Given the description of an element on the screen output the (x, y) to click on. 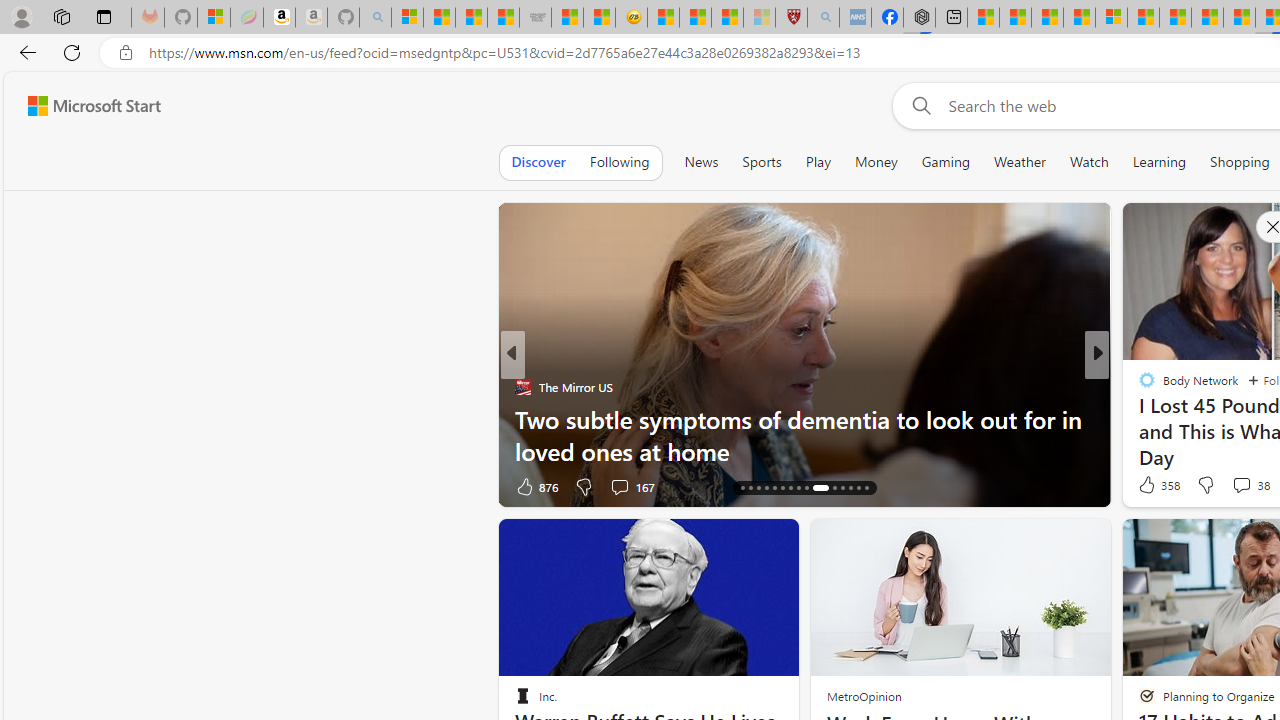
Dislike (1204, 484)
415 Like (1151, 486)
AutomationID: tab-21 (782, 487)
NCL Adult Asthma Inhaler Choice Guideline - Sleeping (855, 17)
ABC News (1138, 386)
Gaming (945, 162)
AutomationID: tab-27 (842, 487)
AutomationID: tab-16 (742, 487)
Deseret News (1138, 418)
Discover (538, 162)
Money (876, 162)
67 Like (1149, 486)
AutomationID: tab-26 (829, 487)
AutomationID: tab-20 (774, 487)
